Given the description of an element on the screen output the (x, y) to click on. 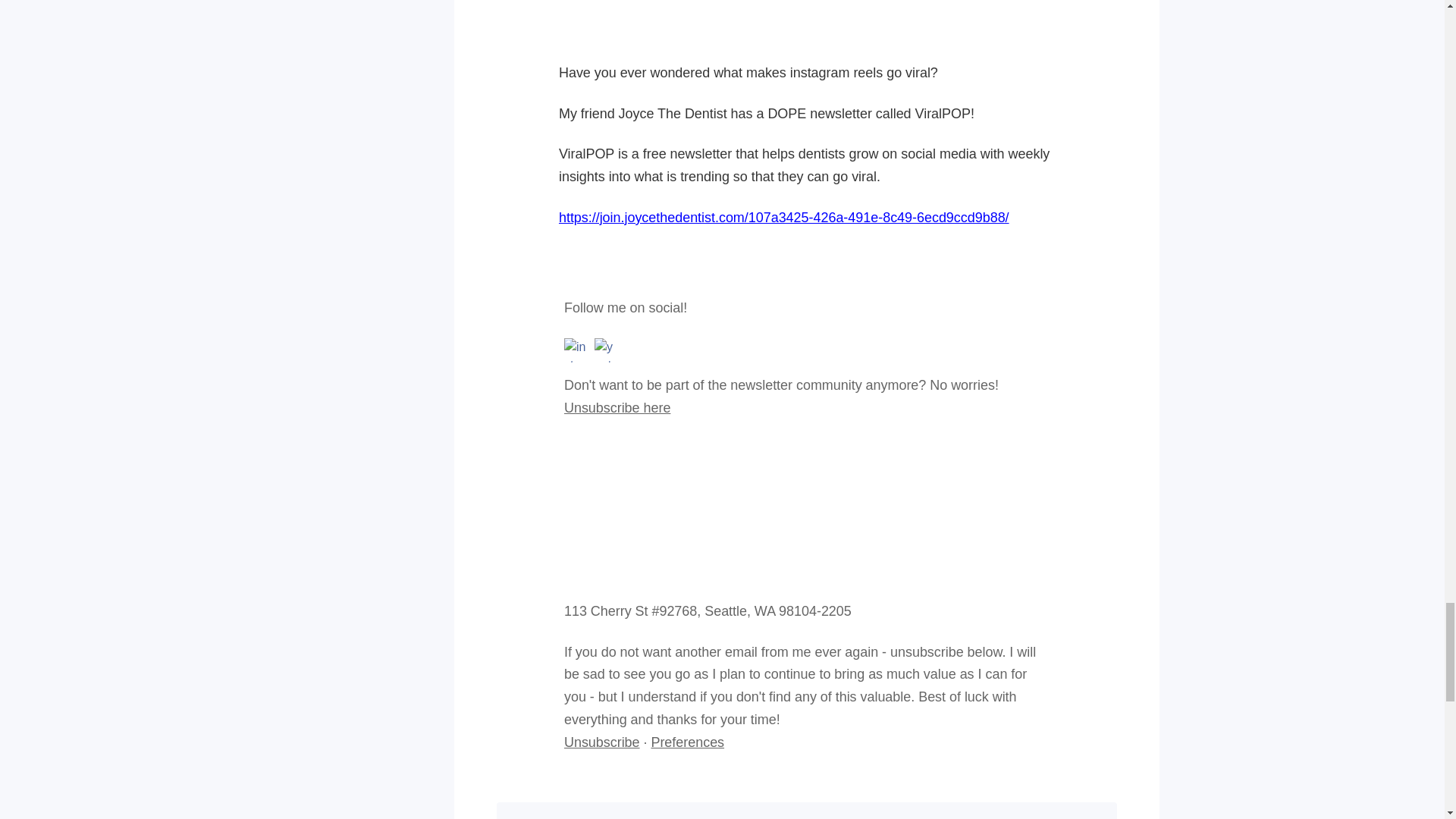
Unsubscribe here (616, 407)
Unsubscribe (602, 742)
Preferences (686, 742)
